Given the description of an element on the screen output the (x, y) to click on. 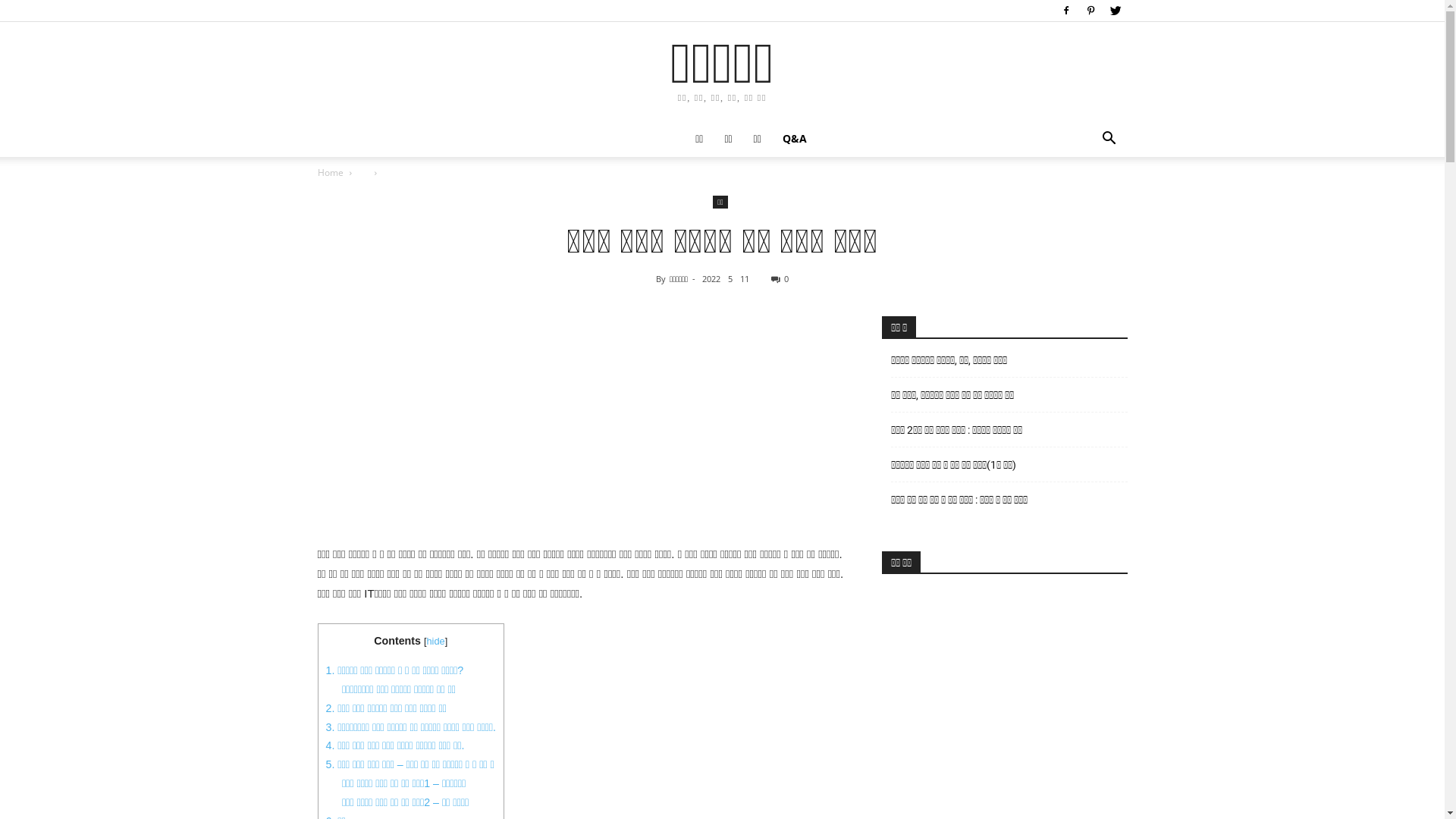
Search Element type: text (1085, 199)
Advertisement Element type: hover (580, 422)
Pinterest Element type: hover (1090, 10)
hide Element type: text (435, 640)
Home Element type: text (329, 172)
Q&A Element type: text (794, 138)
Facebook Element type: hover (1065, 10)
Twitter Element type: hover (1115, 10)
0 Element type: text (779, 278)
